Given the description of an element on the screen output the (x, y) to click on. 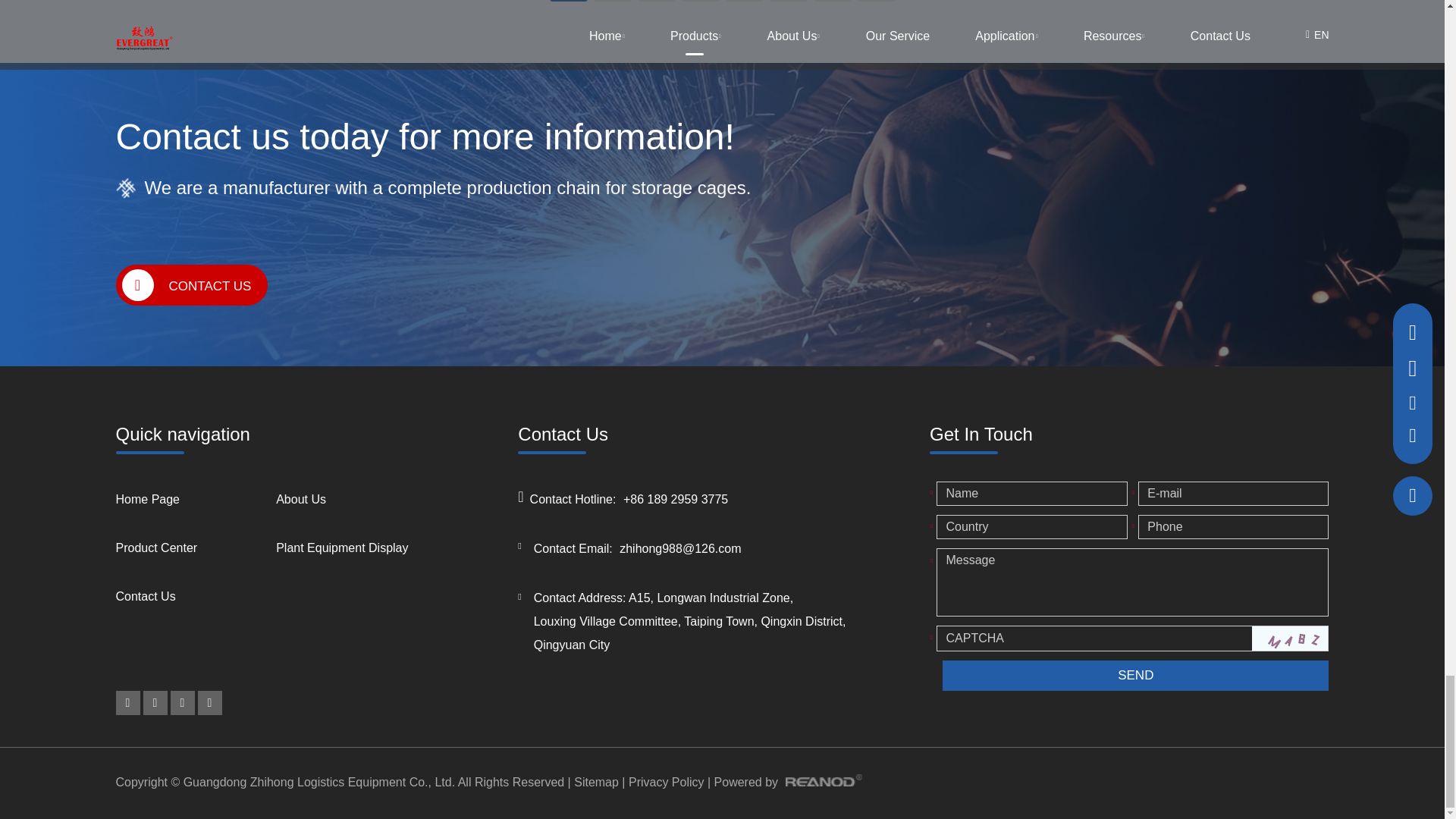
SEND (1134, 675)
